Given the description of an element on the screen output the (x, y) to click on. 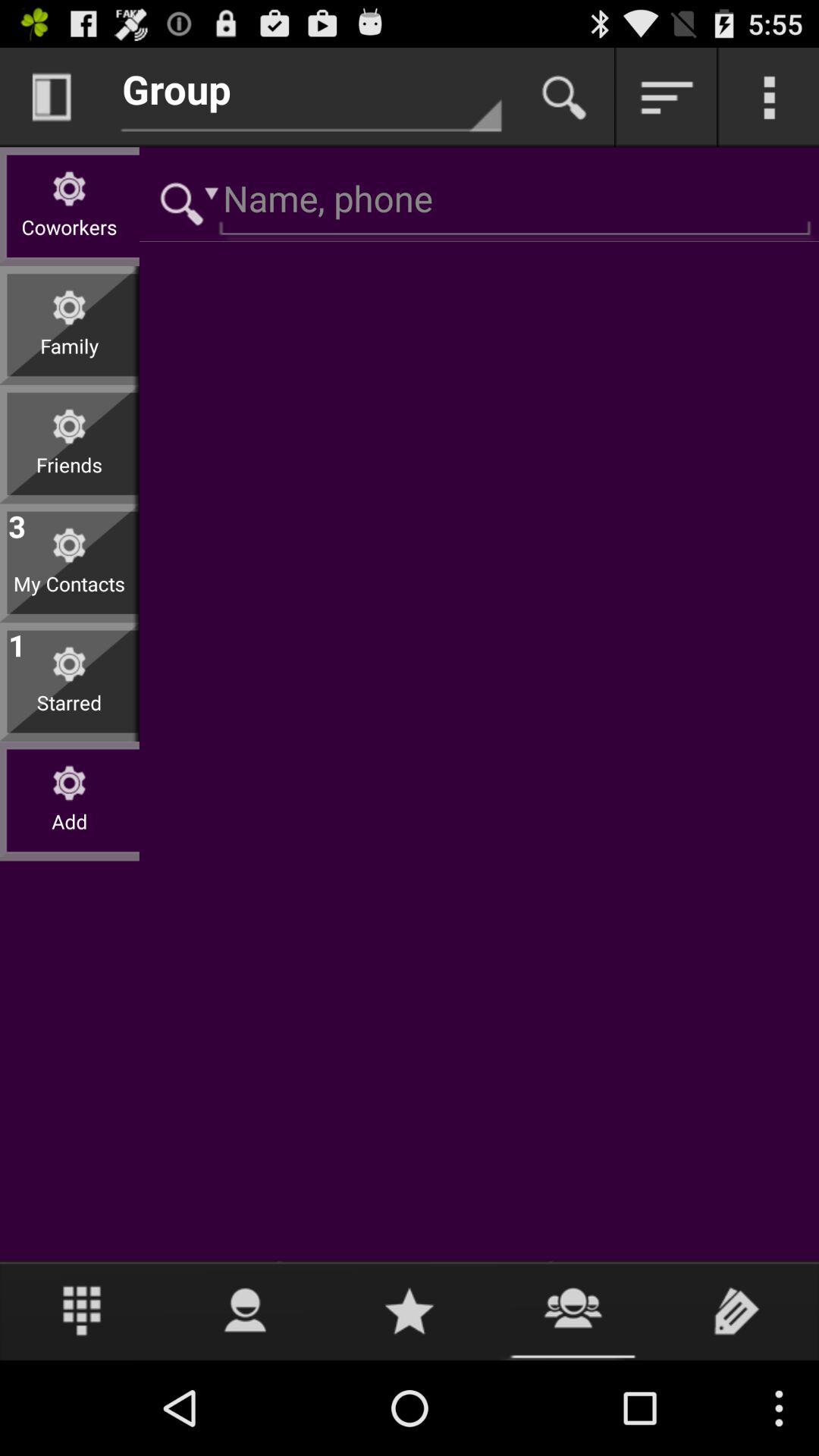
tags page (737, 1310)
